Given the description of an element on the screen output the (x, y) to click on. 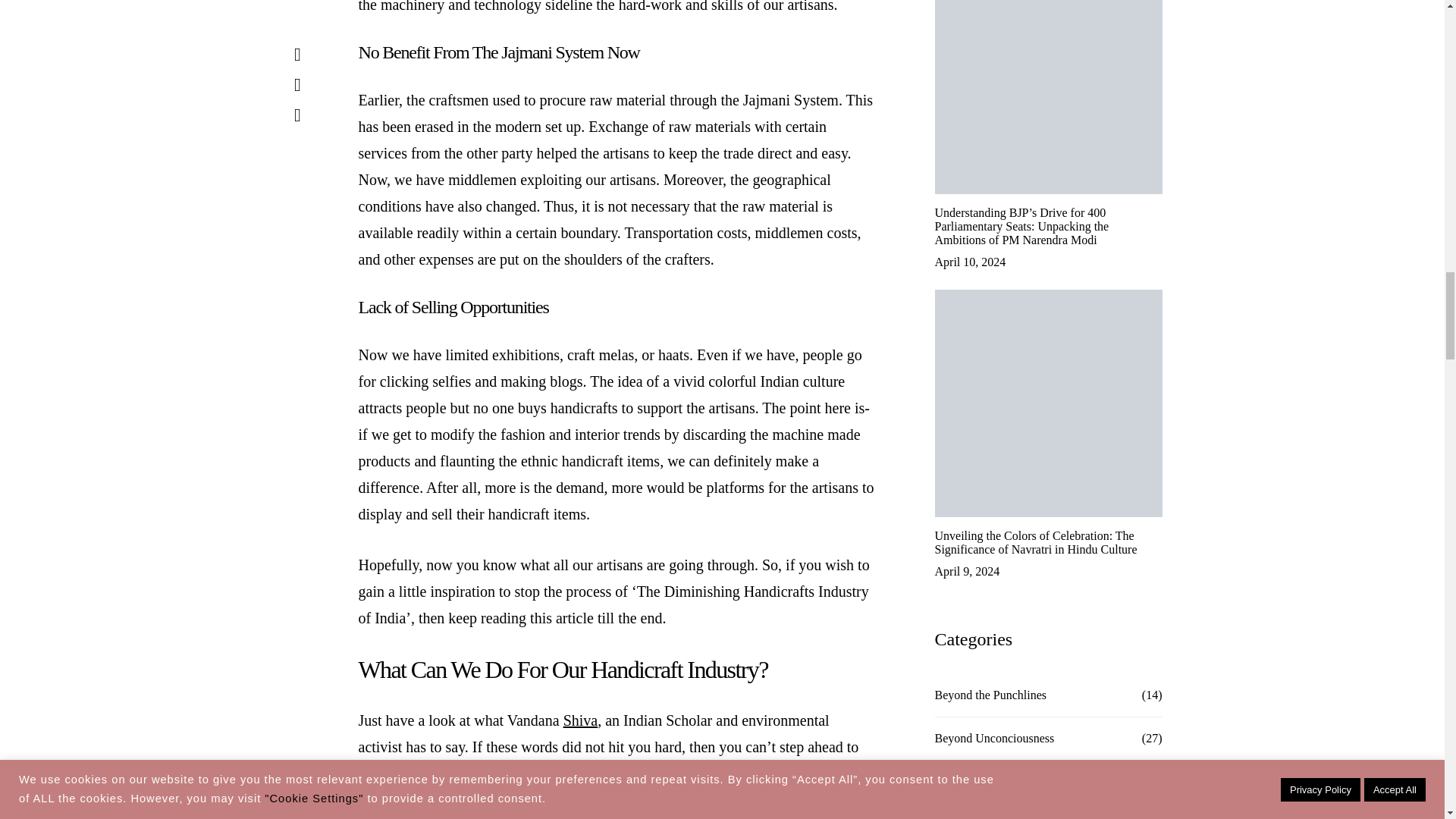
Shiva (580, 719)
